Given the description of an element on the screen output the (x, y) to click on. 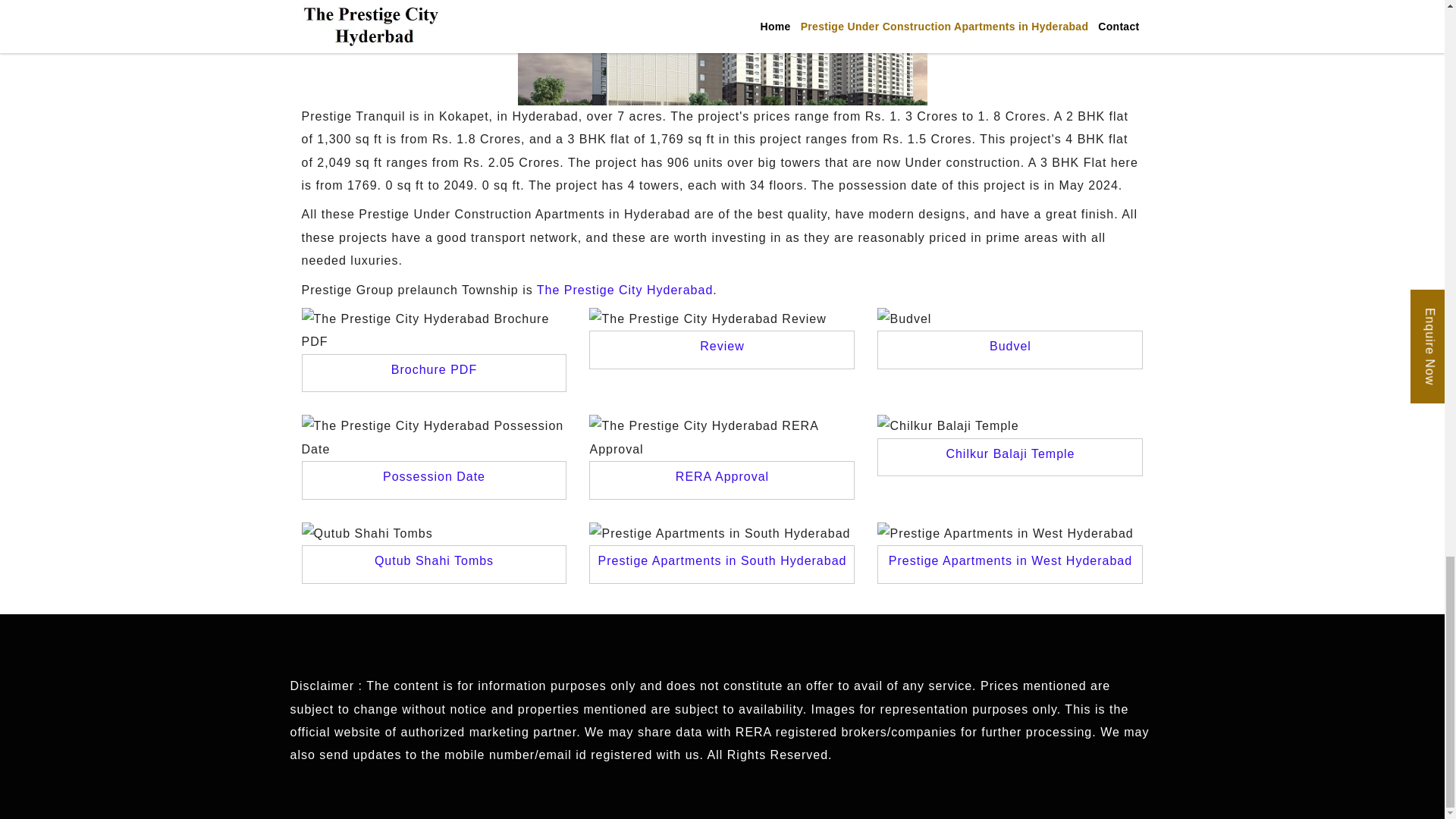
Chilkur Balaji Temple (1009, 453)
The Prestige City Hyderabad RERA Approval (721, 437)
Chilkur Balaji Temple (1009, 425)
Prestige Tranquil (721, 52)
Qutub Shahi Tombs (433, 560)
Prestige Apartments in South Hyderabad (720, 560)
Chilkur Balaji Temple (1009, 453)
The Prestige City Hyderabad Possession Date (433, 476)
Budvel (1010, 345)
Review (722, 345)
